Given the description of an element on the screen output the (x, y) to click on. 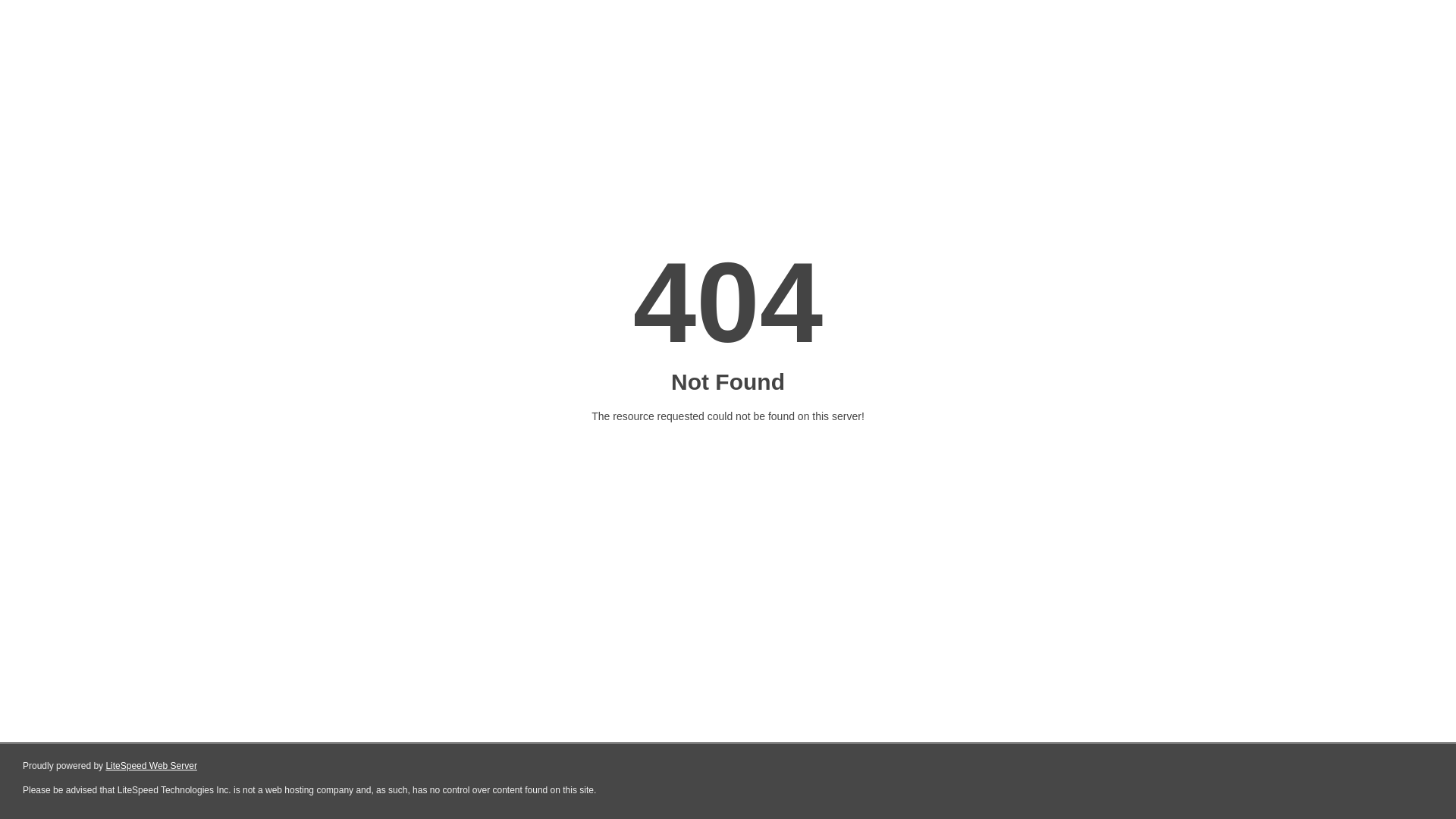
LiteSpeed Web Server Element type: text (151, 765)
